Given the description of an element on the screen output the (x, y) to click on. 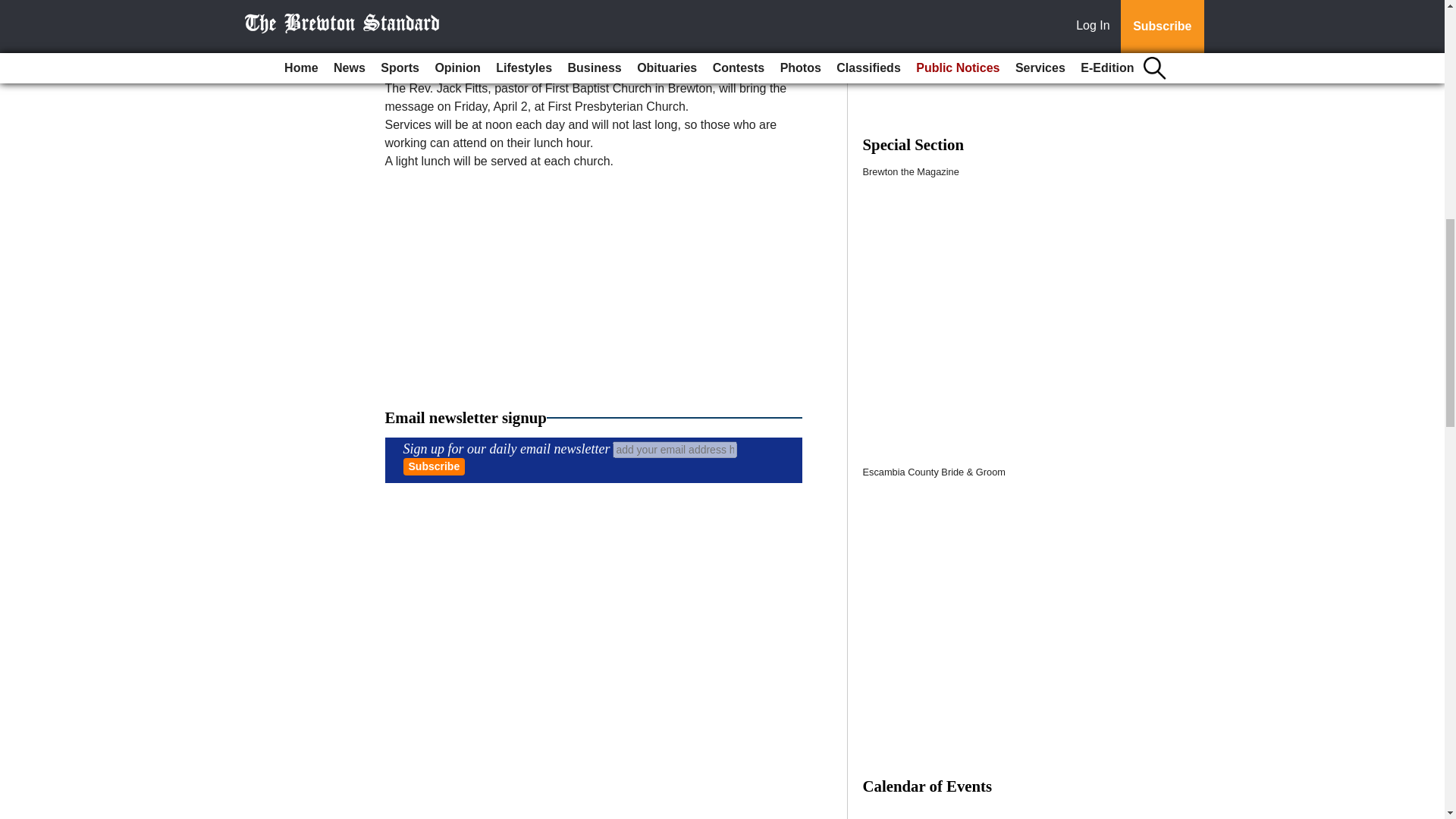
Subscribe (434, 466)
Subscribe (434, 466)
